Given the description of an element on the screen output the (x, y) to click on. 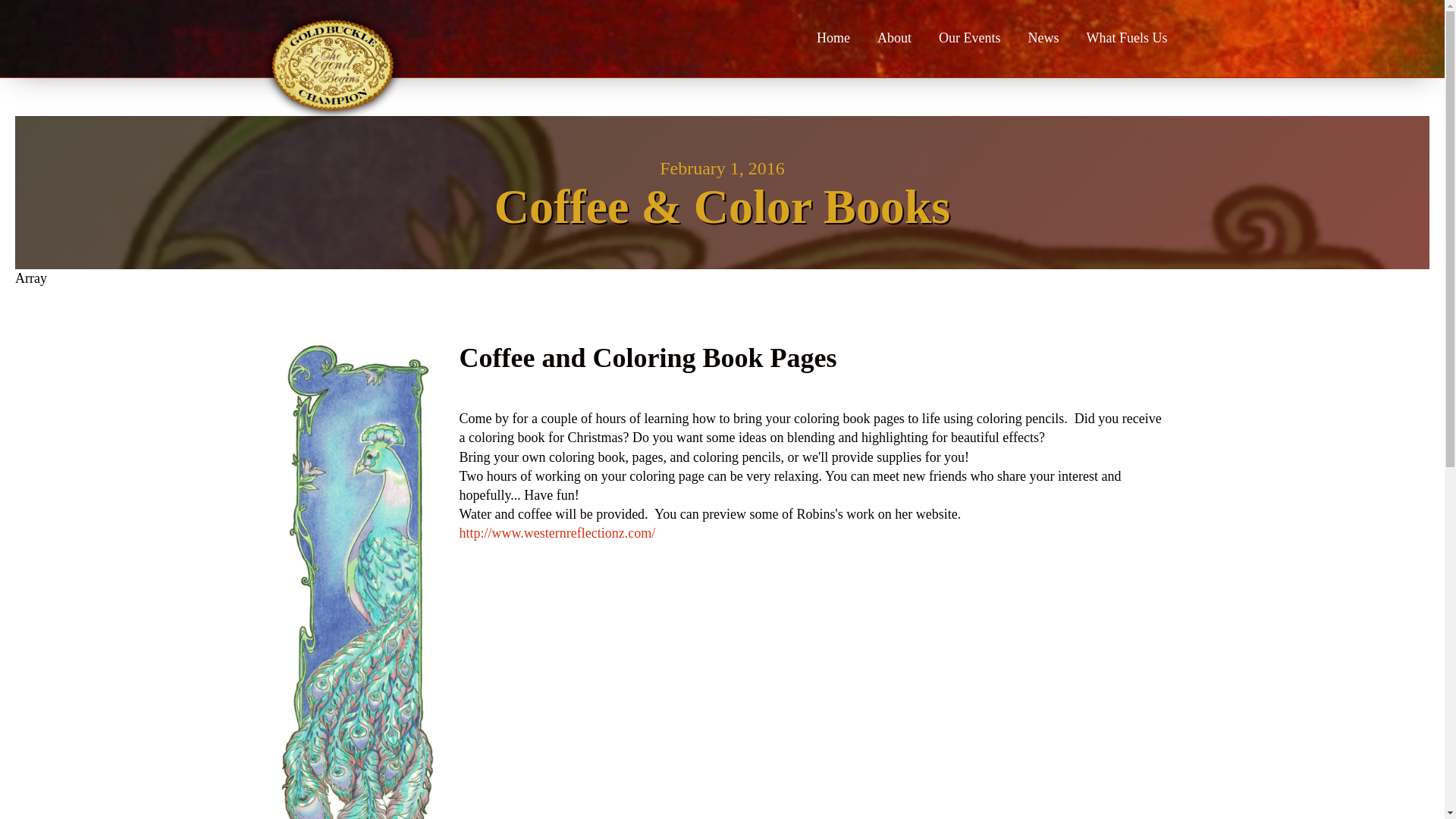
Home (833, 38)
What Fuels Us (1125, 38)
News (1043, 38)
Our Events (968, 38)
About (893, 38)
